Given the description of an element on the screen output the (x, y) to click on. 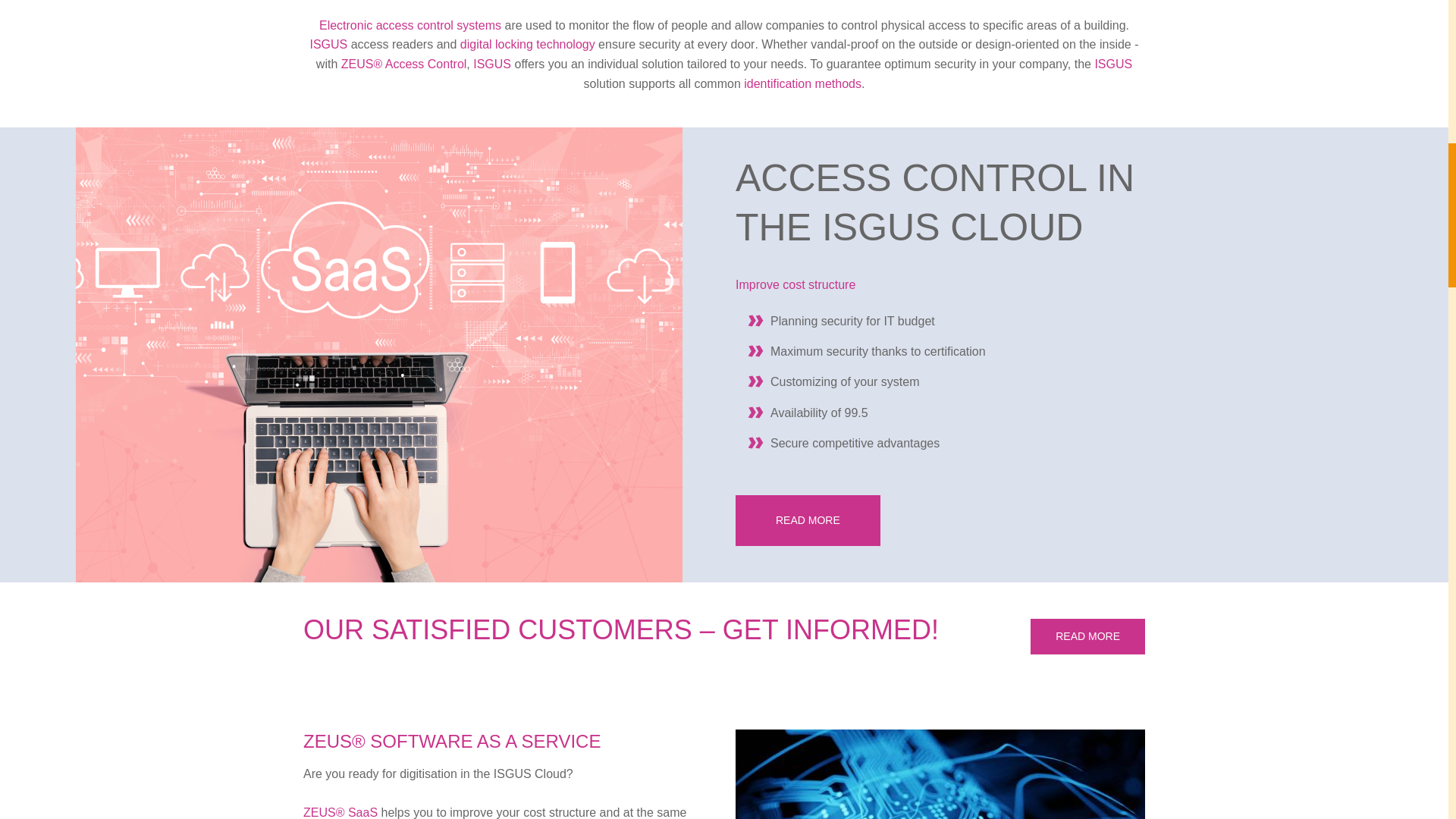
digital locking technology (527, 43)
Customer stories (1087, 636)
Electronic access control systems (409, 24)
READ MORE (807, 520)
